Given the description of an element on the screen output the (x, y) to click on. 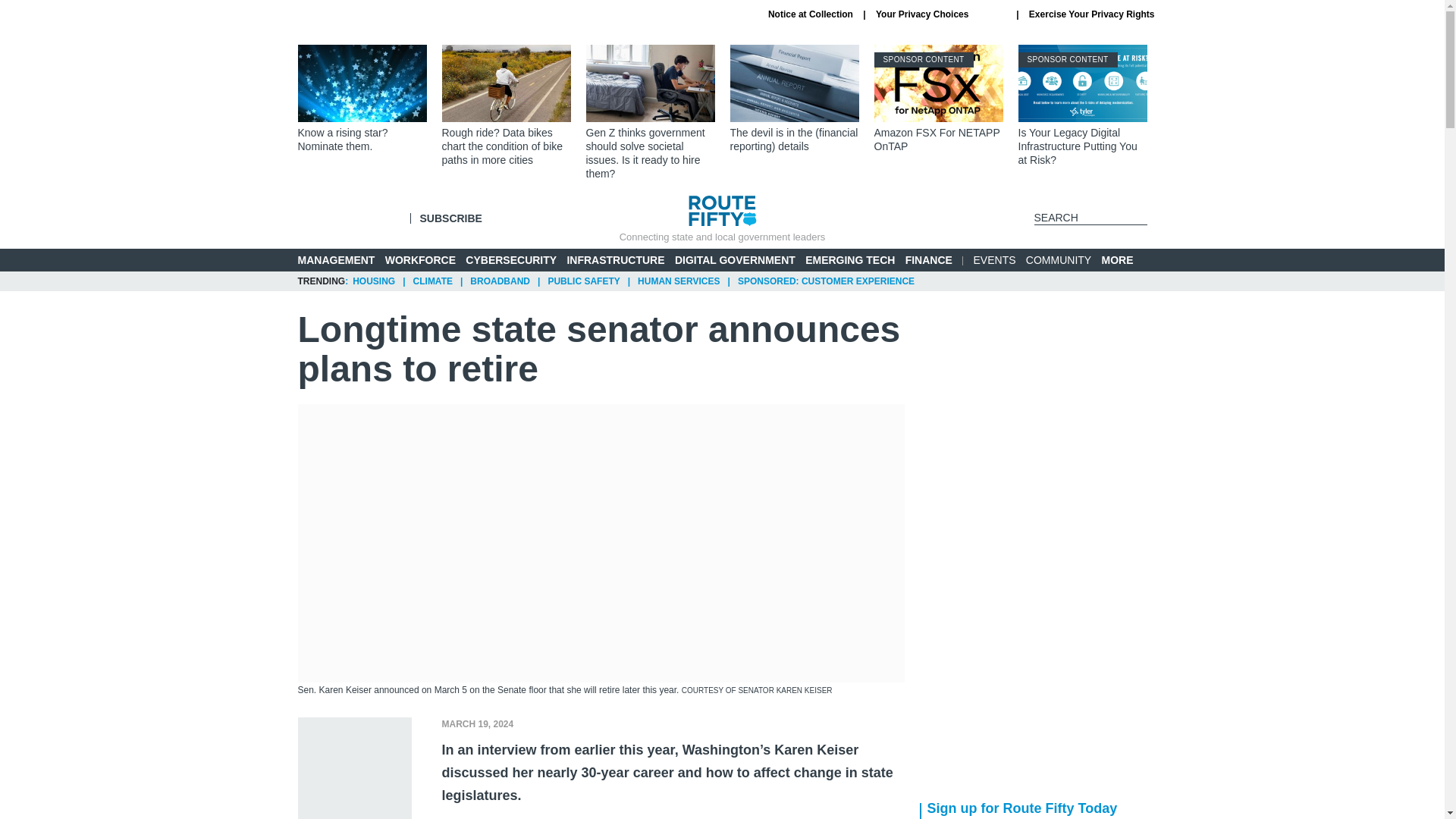
Know a rising star? Nominate them. (361, 99)
DIGITAL GOVERNMENT (734, 259)
EMERGING TECH (850, 259)
MORE (1123, 260)
Your Privacy Choices (941, 14)
EVENTS (938, 99)
INFRASTRUCTURE (995, 259)
SUBSCRIBE (614, 259)
COMMUNITY (450, 218)
Notice at Collection (1058, 259)
WORKFORCE (810, 14)
MANAGEMENT (420, 259)
